Given the description of an element on the screen output the (x, y) to click on. 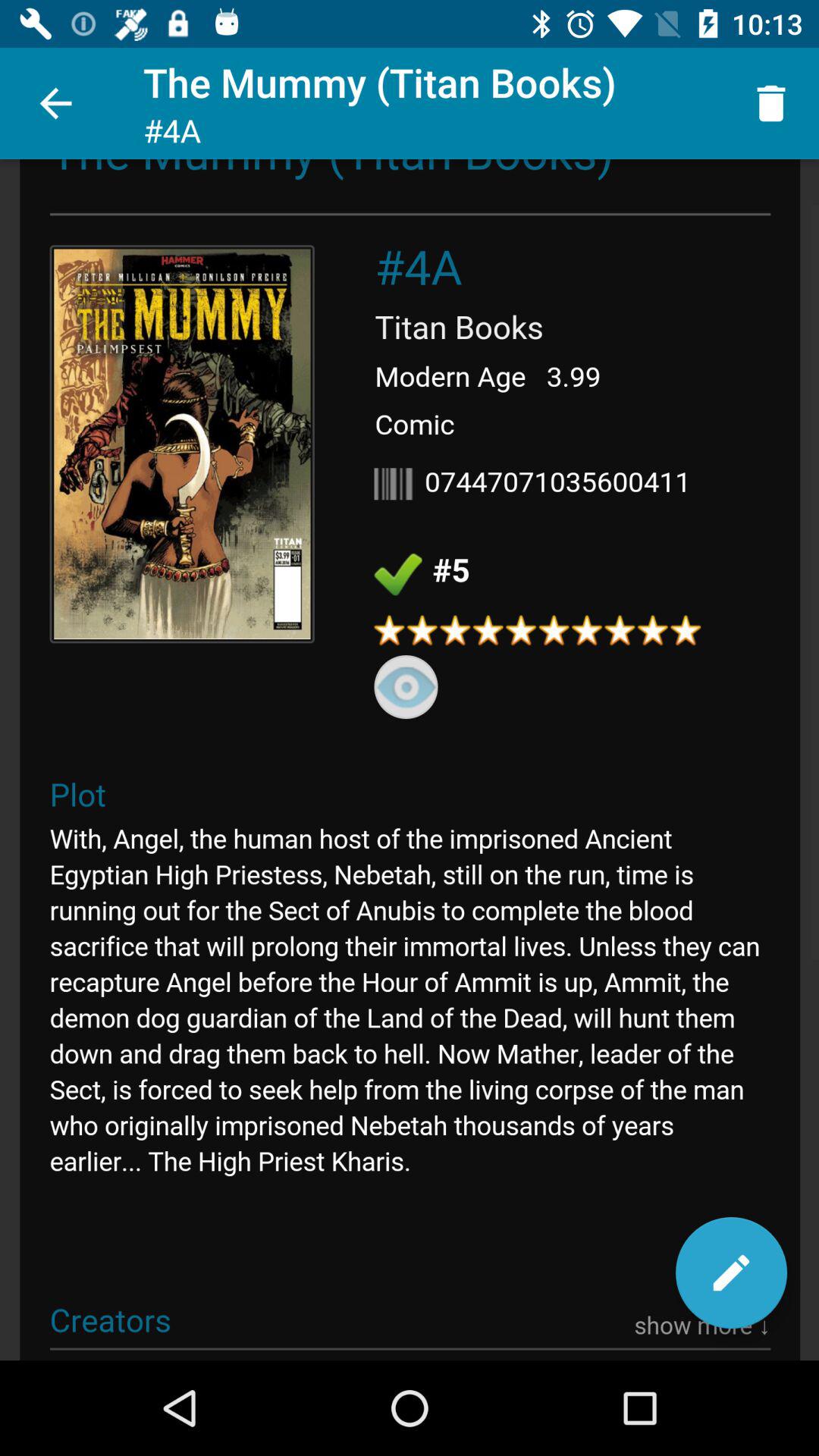
edit your input (731, 1272)
